Given the description of an element on the screen output the (x, y) to click on. 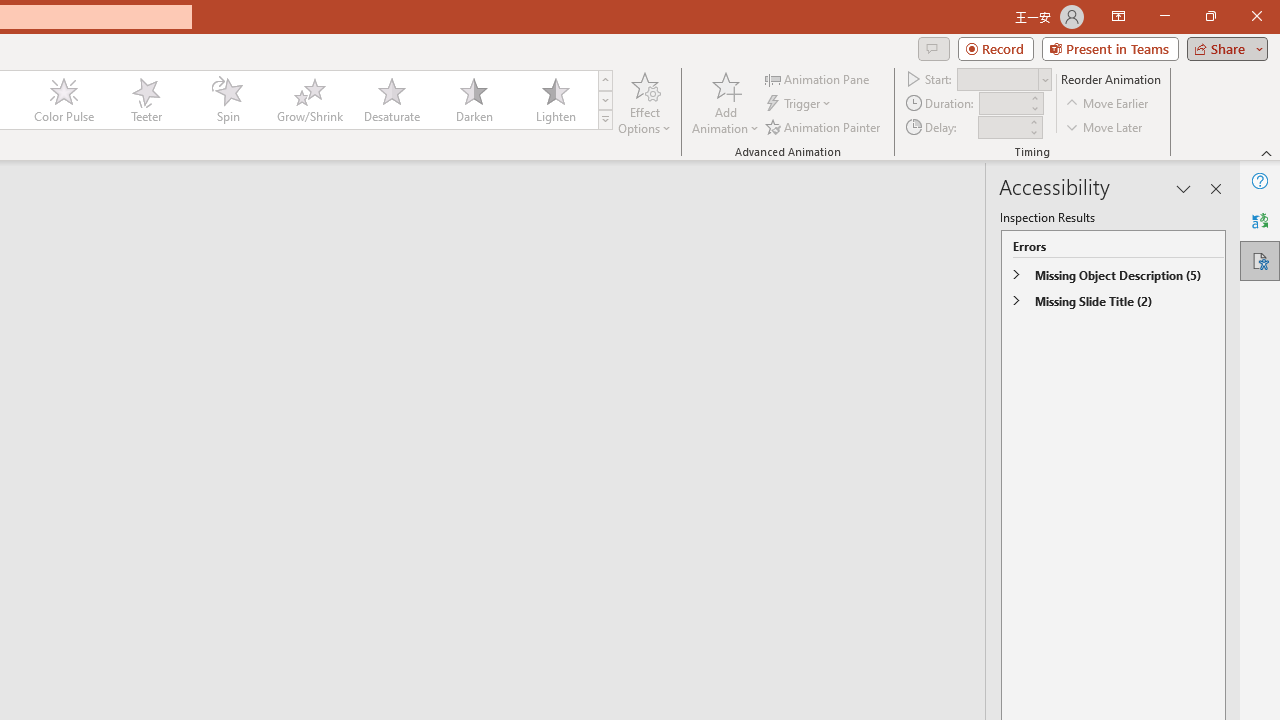
Spin (227, 100)
Animation Duration (1003, 103)
Add Animation (725, 102)
Move Later (1105, 126)
